Given the description of an element on the screen output the (x, y) to click on. 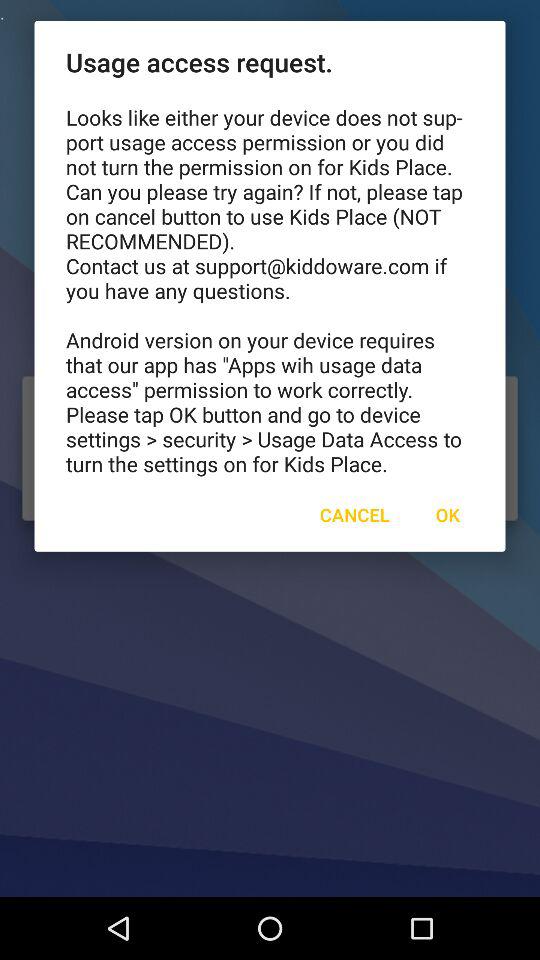
open the icon to the right of cancel icon (447, 514)
